Given the description of an element on the screen output the (x, y) to click on. 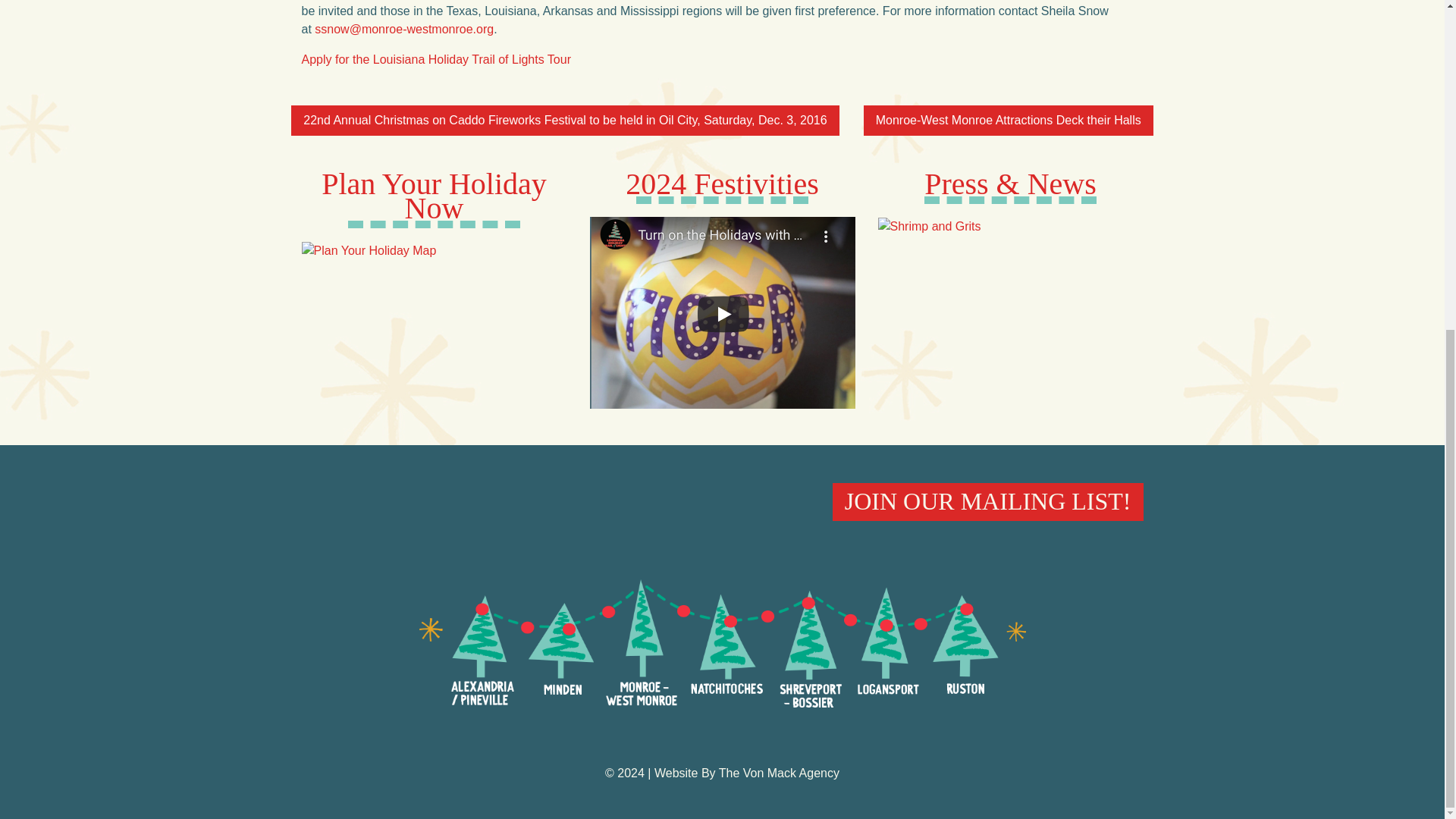
The Von Mack Agency (779, 772)
Apply for the Louisiana Holiday Trail of Lights Tour (435, 59)
Monroe-West Monroe Attractions Deck their Halls (1008, 120)
JOIN OUR MAILING LIST! (987, 501)
